Given the description of an element on the screen output the (x, y) to click on. 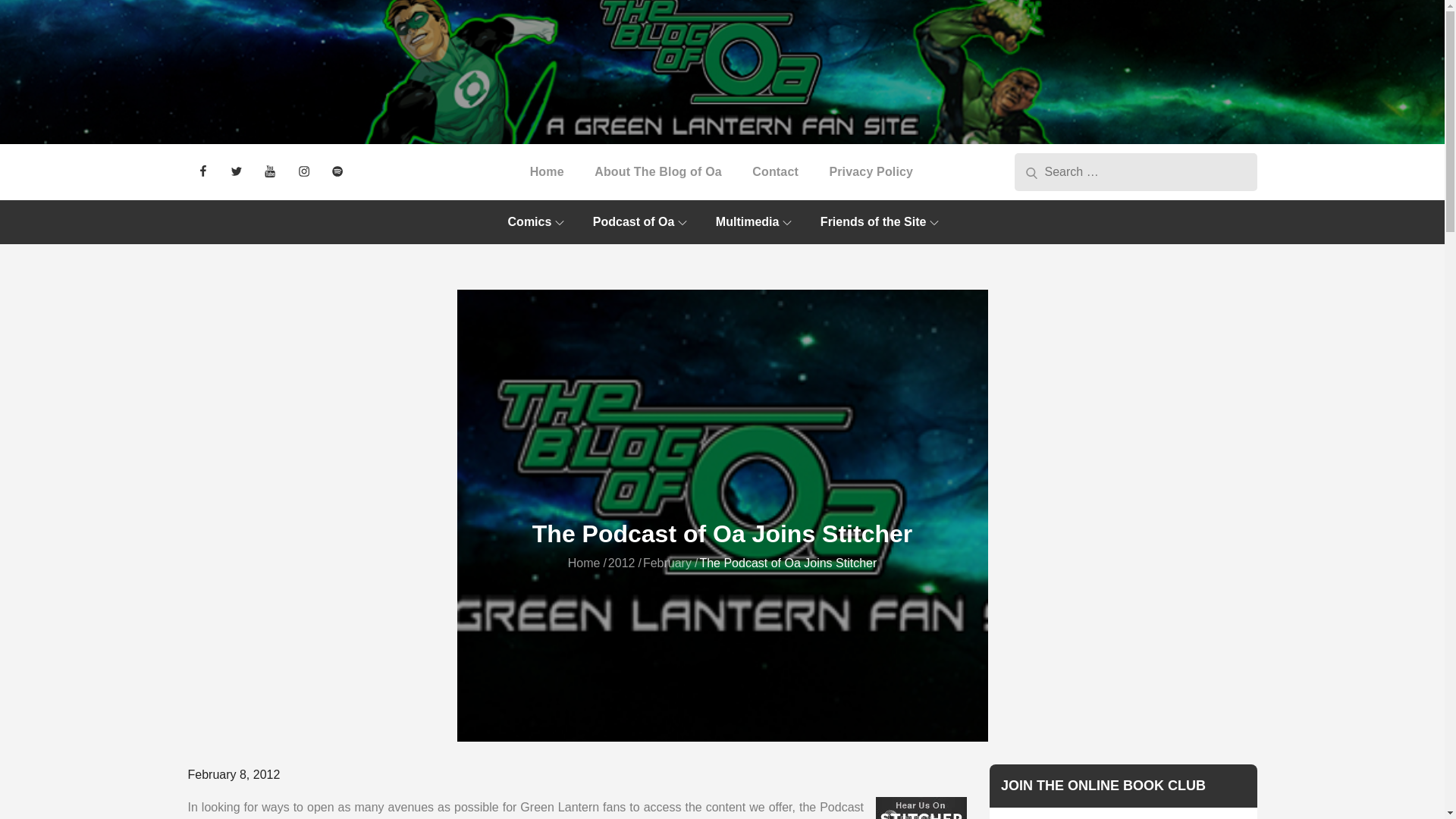
Instagram (303, 171)
About The Blog of Oa (657, 171)
Spotify (336, 171)
Comics (536, 221)
YouTube (269, 171)
Home (547, 171)
Privacy Policy (870, 171)
Search (1031, 171)
Twitter (236, 171)
Facebook (202, 171)
Contact (775, 171)
